Given the description of an element on the screen output the (x, y) to click on. 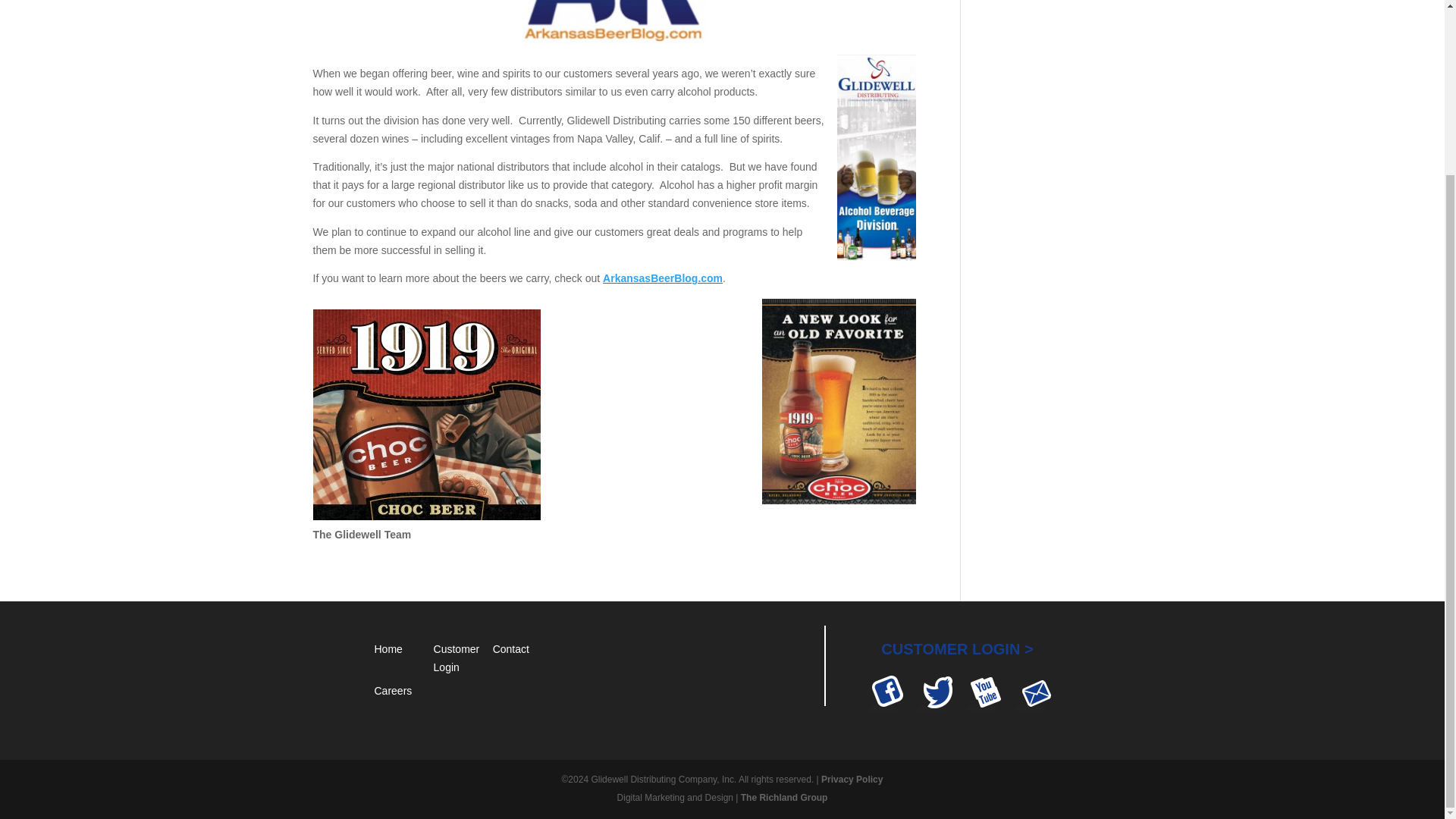
Customer Login (456, 657)
The Richland Group (784, 797)
Arkansas Beer Blog (662, 277)
Privacy Policy (851, 778)
ArkansasBeerBlog.com (662, 277)
1919 (426, 414)
Contact (511, 648)
AR Beer Blog (614, 22)
Home (388, 648)
Careers (393, 690)
